Given the description of an element on the screen output the (x, y) to click on. 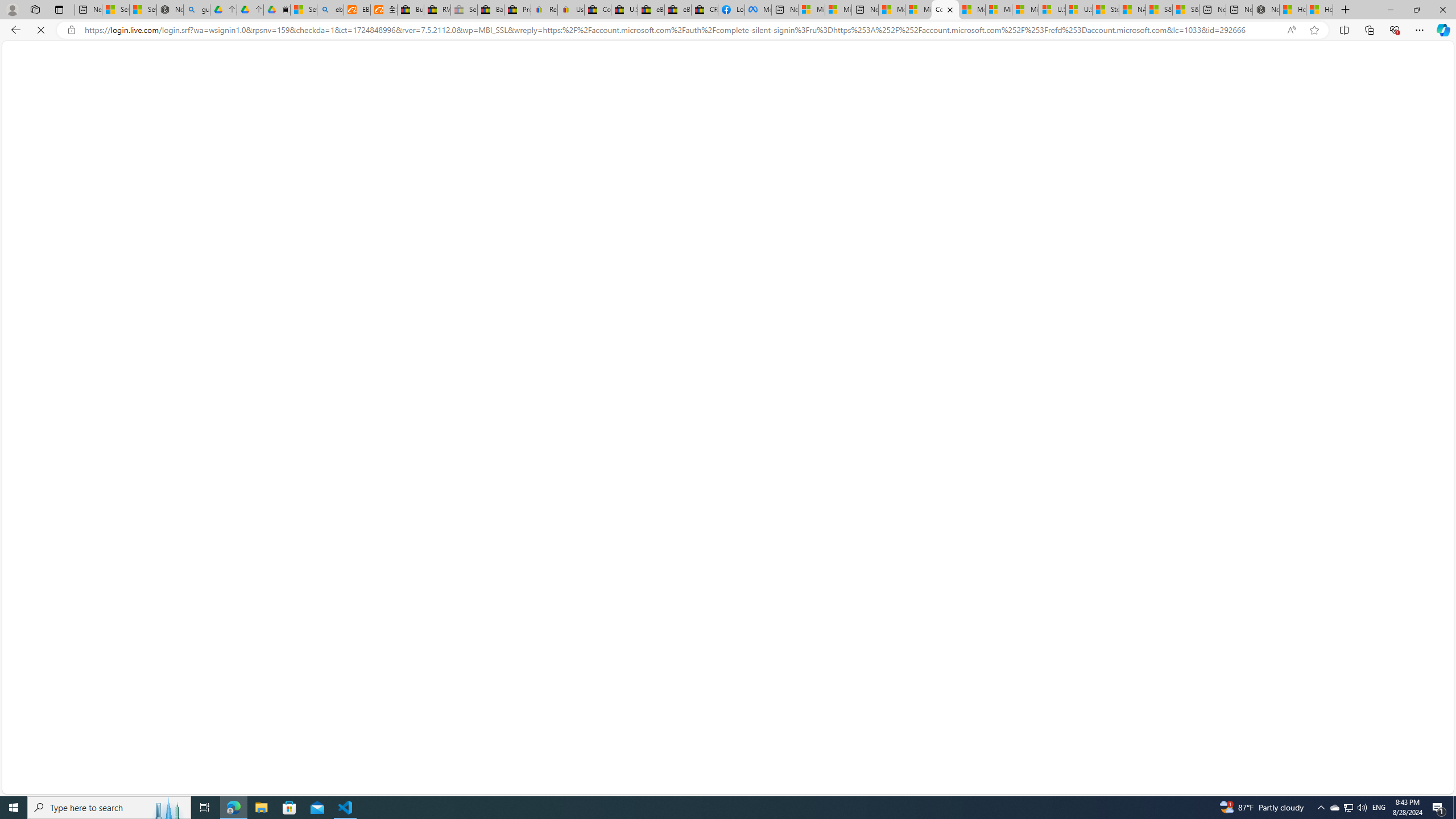
eBay Inc. Reports Third Quarter 2023 Results (677, 9)
Meta Store (757, 9)
Microsoft account | Home (945, 9)
